Given the description of an element on the screen output the (x, y) to click on. 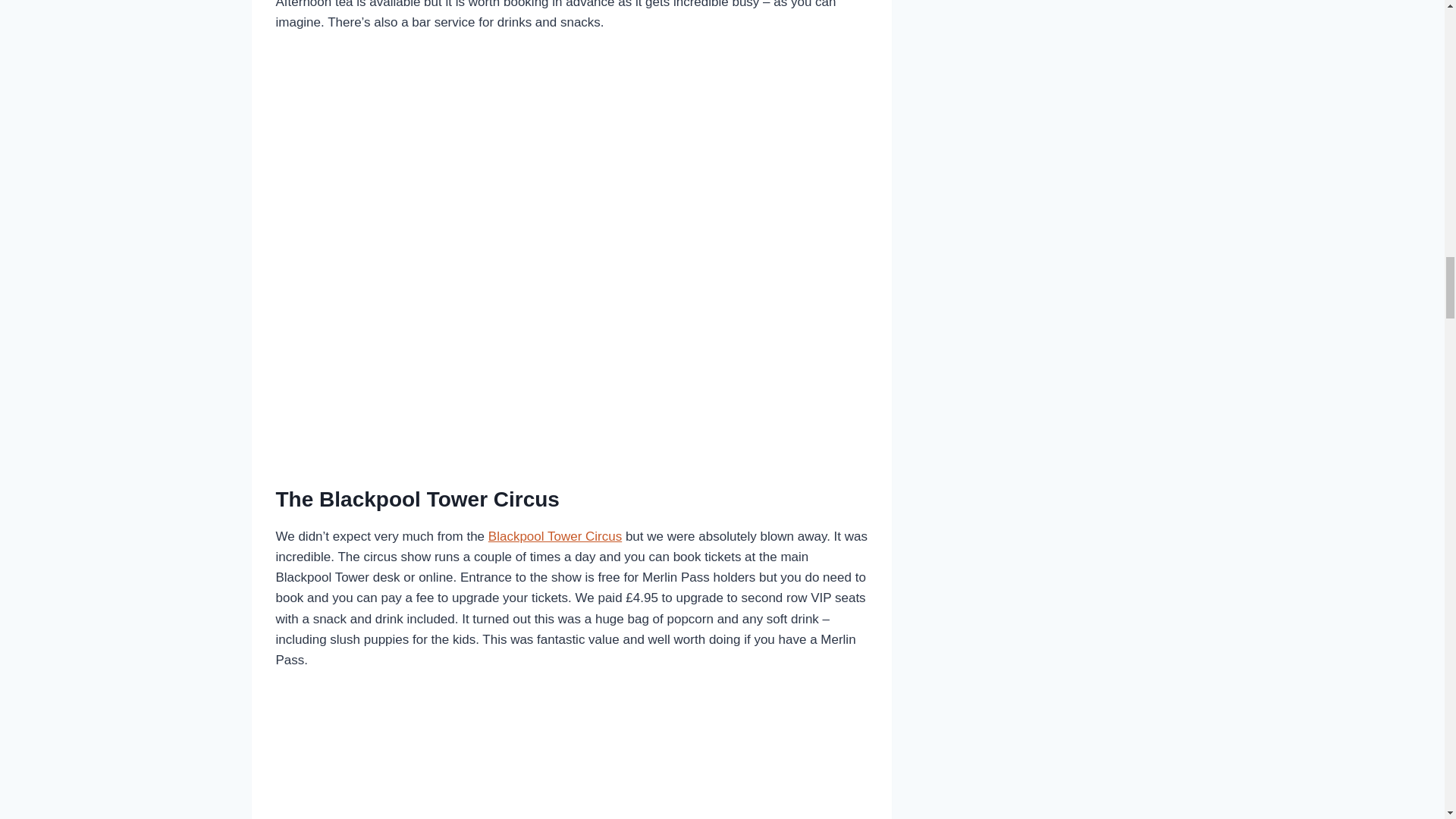
Blackpool Tower Circus (554, 536)
